Given the description of an element on the screen output the (x, y) to click on. 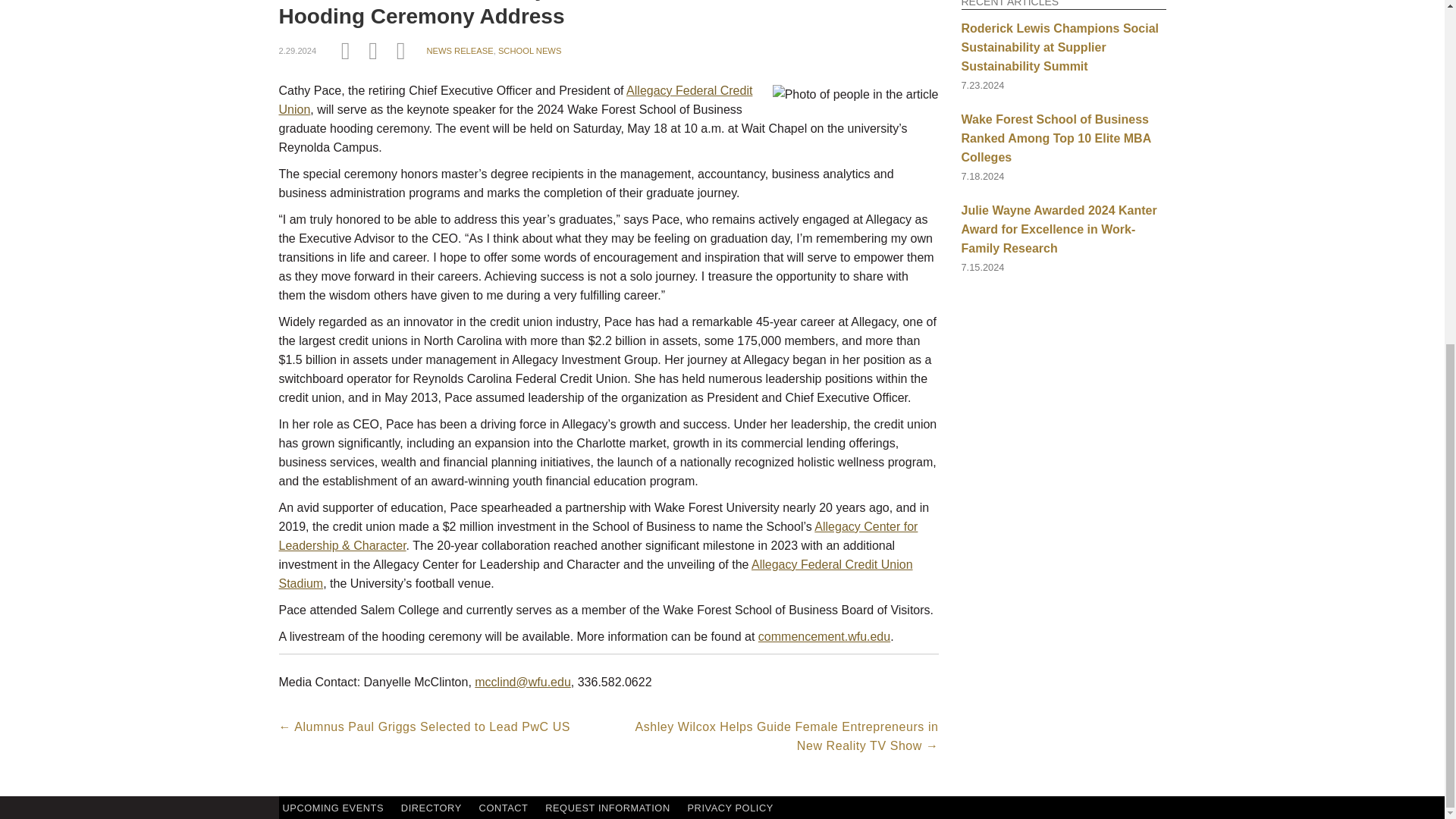
Allegacy Federal Credit Union (515, 100)
NEWS RELEASE (459, 50)
SCHOOL NEWS (529, 50)
